Given the description of an element on the screen output the (x, y) to click on. 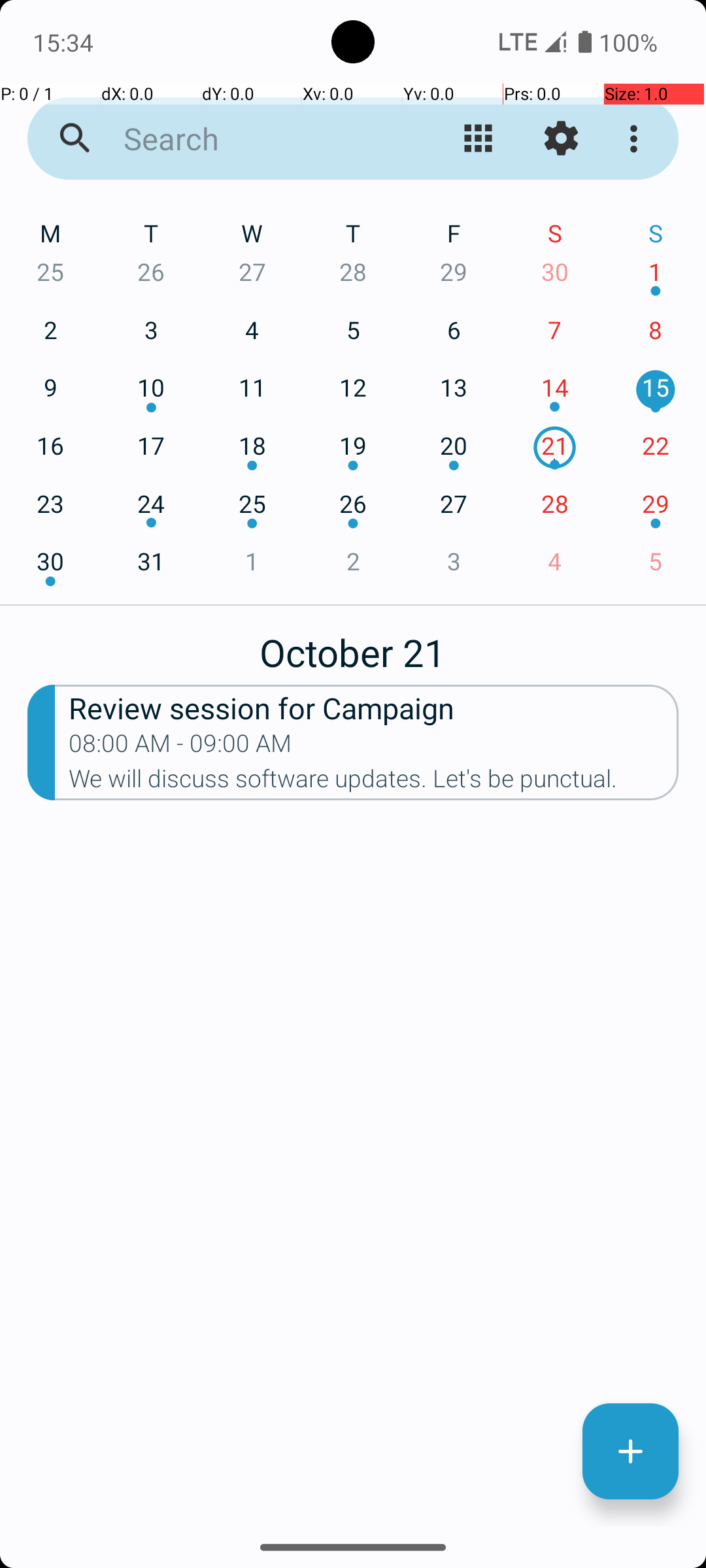
October 21 Element type: android.widget.TextView (352, 644)
08:00 AM - 09:00 AM Element type: android.widget.TextView (179, 747)
We will discuss software updates. Let's be punctual. Element type: android.widget.TextView (373, 782)
